Given the description of an element on the screen output the (x, y) to click on. 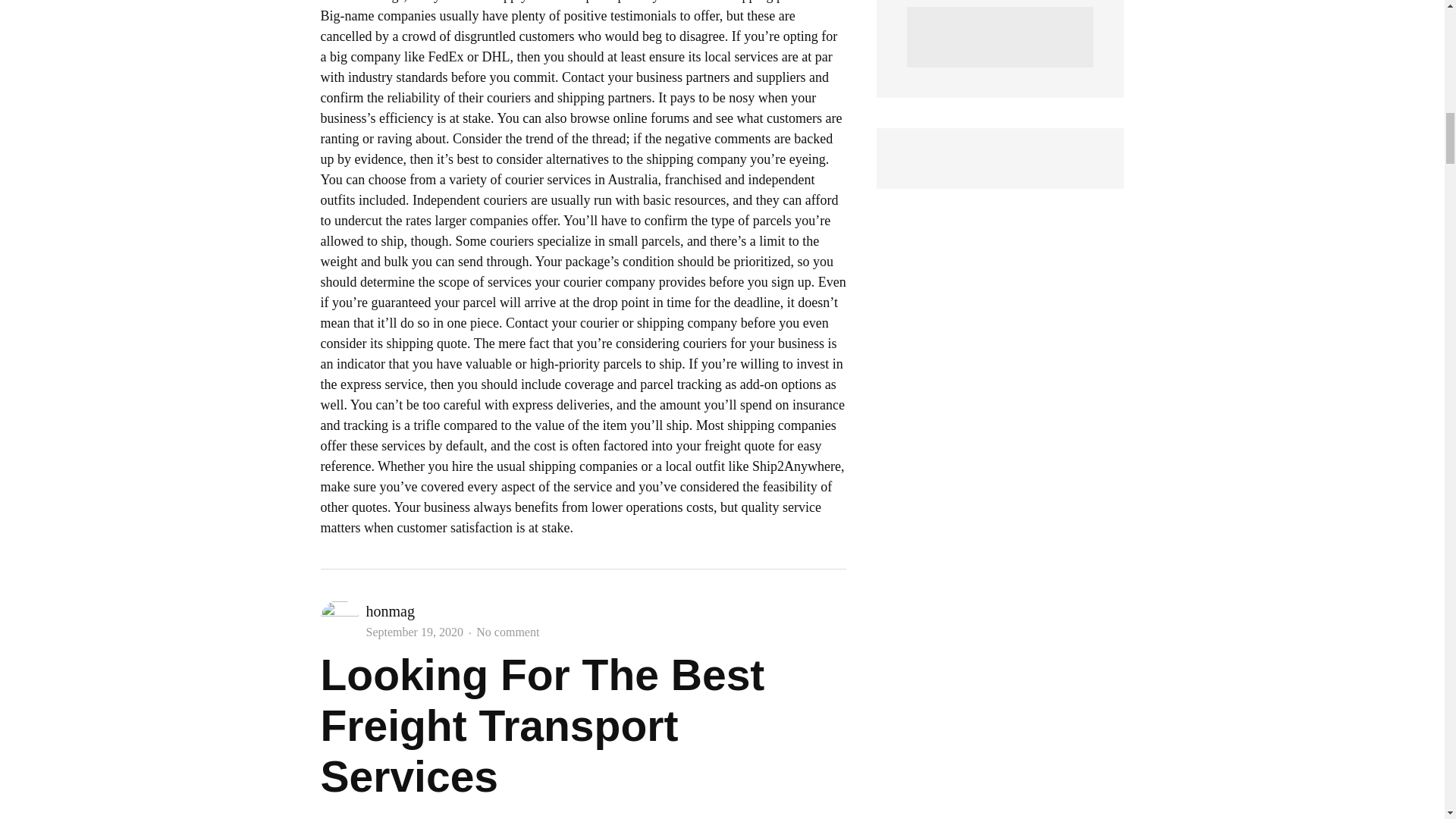
Looking For The Best Freight Transport Services (542, 725)
September 19, 2020 (414, 631)
honmag (389, 610)
